Given the description of an element on the screen output the (x, y) to click on. 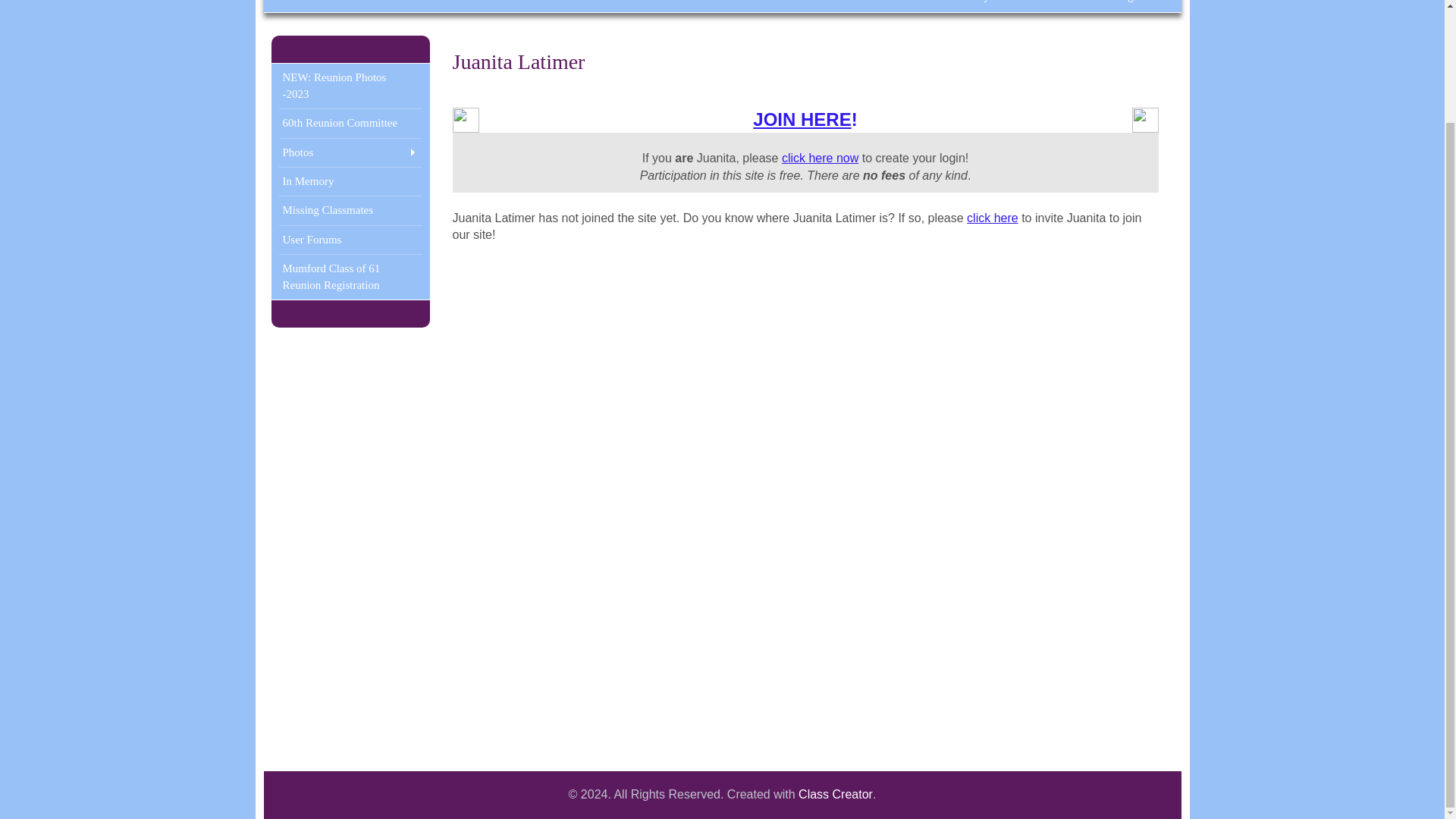
Home Page (1110, 6)
Mumford Class of 61 Reunion Registration (350, 276)
Missing Classmates (350, 209)
Class Creator (834, 794)
Contact Us (790, 6)
In Memory (350, 181)
Mumford Today (950, 6)
60th Reunion Committee (350, 123)
click here now (820, 157)
Classmate Profiles (363, 6)
User Forums (350, 240)
NEW: Reunion Photos -2023 (350, 85)
Photos (350, 152)
JOIN HERE! (804, 118)
click here (991, 217)
